Given the description of an element on the screen output the (x, y) to click on. 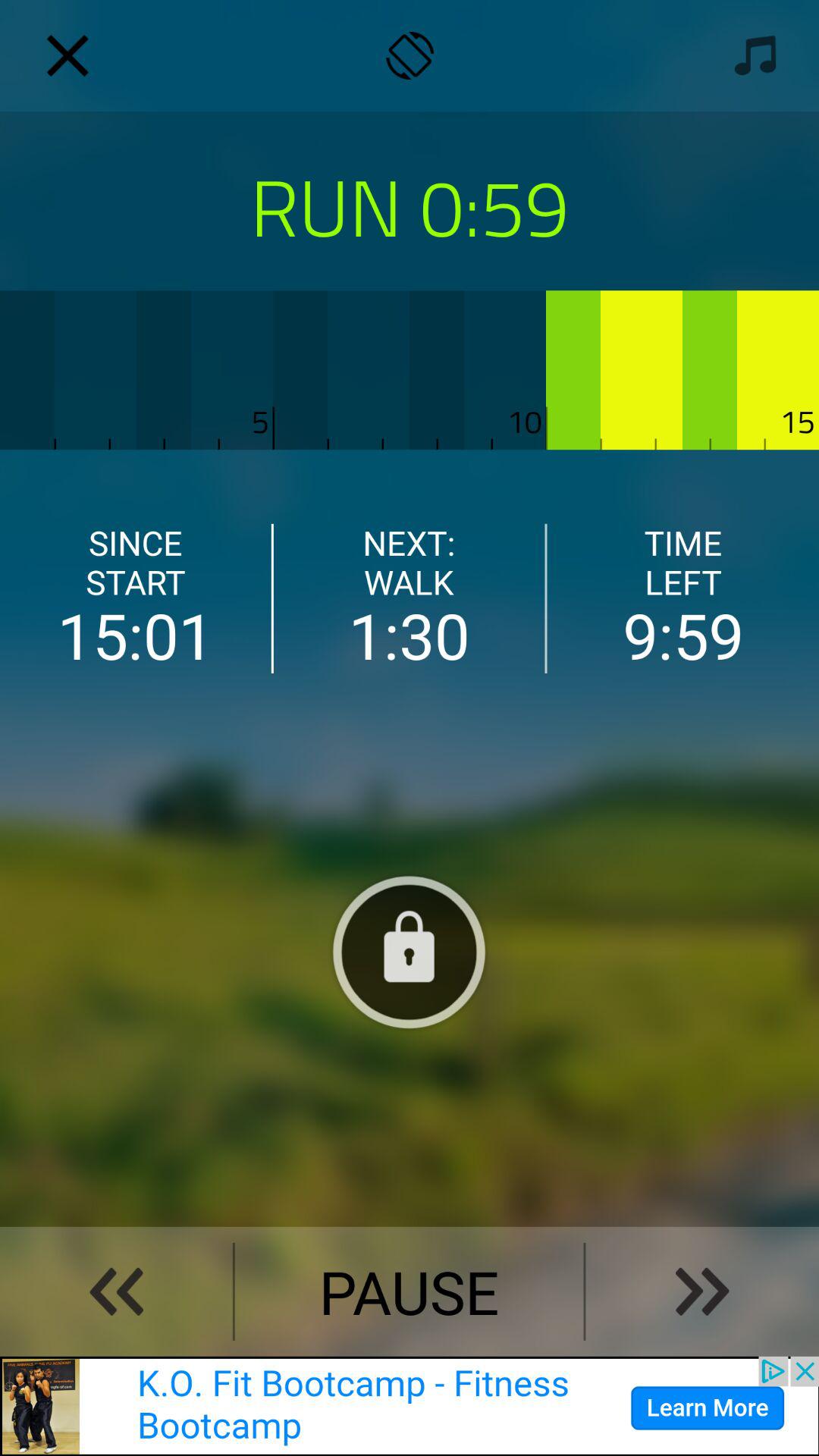
stop (408, 951)
